Given the description of an element on the screen output the (x, y) to click on. 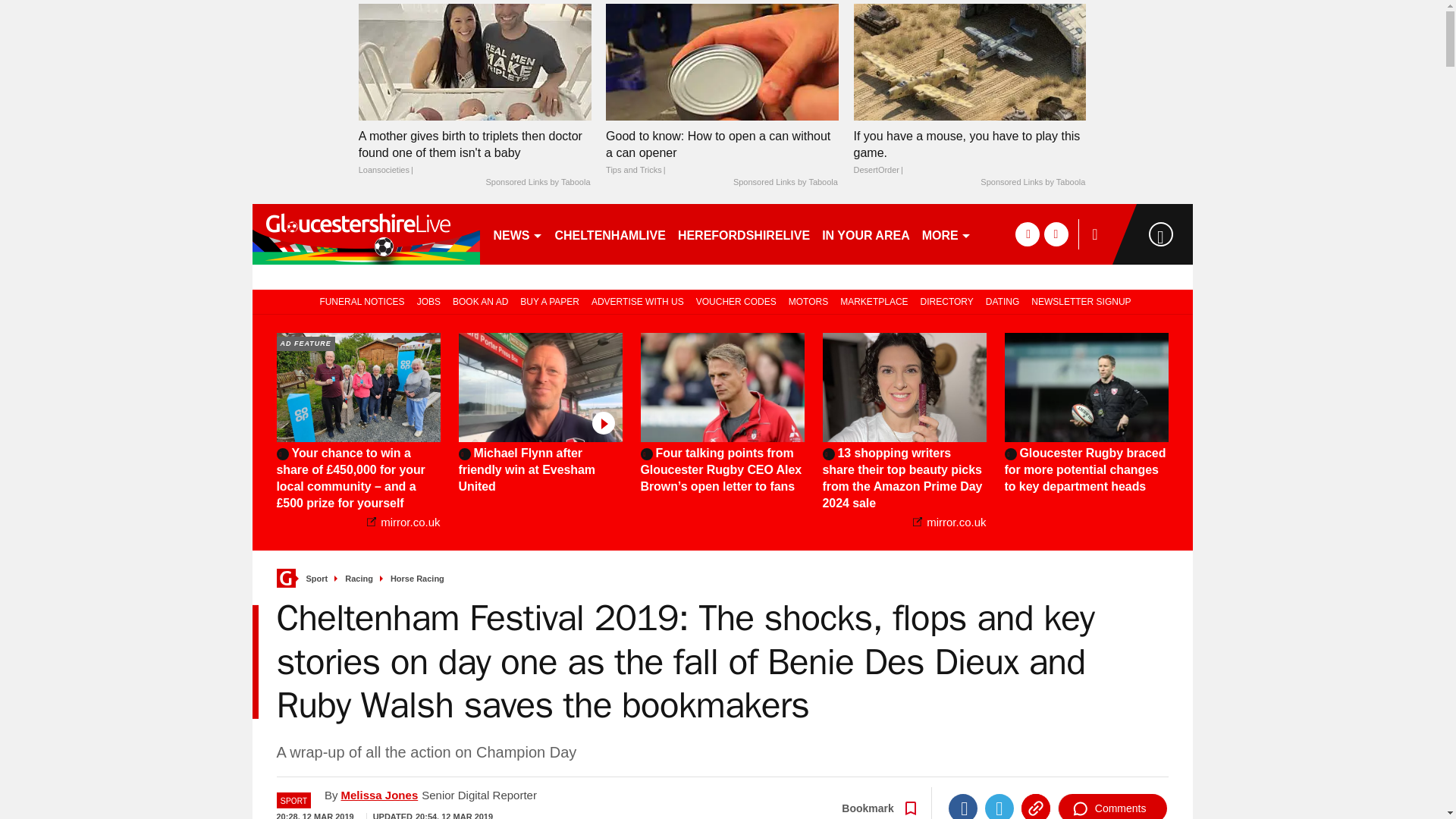
gloucestershirelive (365, 233)
MORE (945, 233)
HEREFORDSHIRELIVE (743, 233)
Twitter (999, 806)
IN YOUR AREA (865, 233)
CHELTENHAMLIVE (609, 233)
Sponsored Links by Taboola (785, 182)
NEWS (517, 233)
Sponsored Links by Taboola (536, 182)
Comments (1112, 806)
Facebook (962, 806)
